Given the description of an element on the screen output the (x, y) to click on. 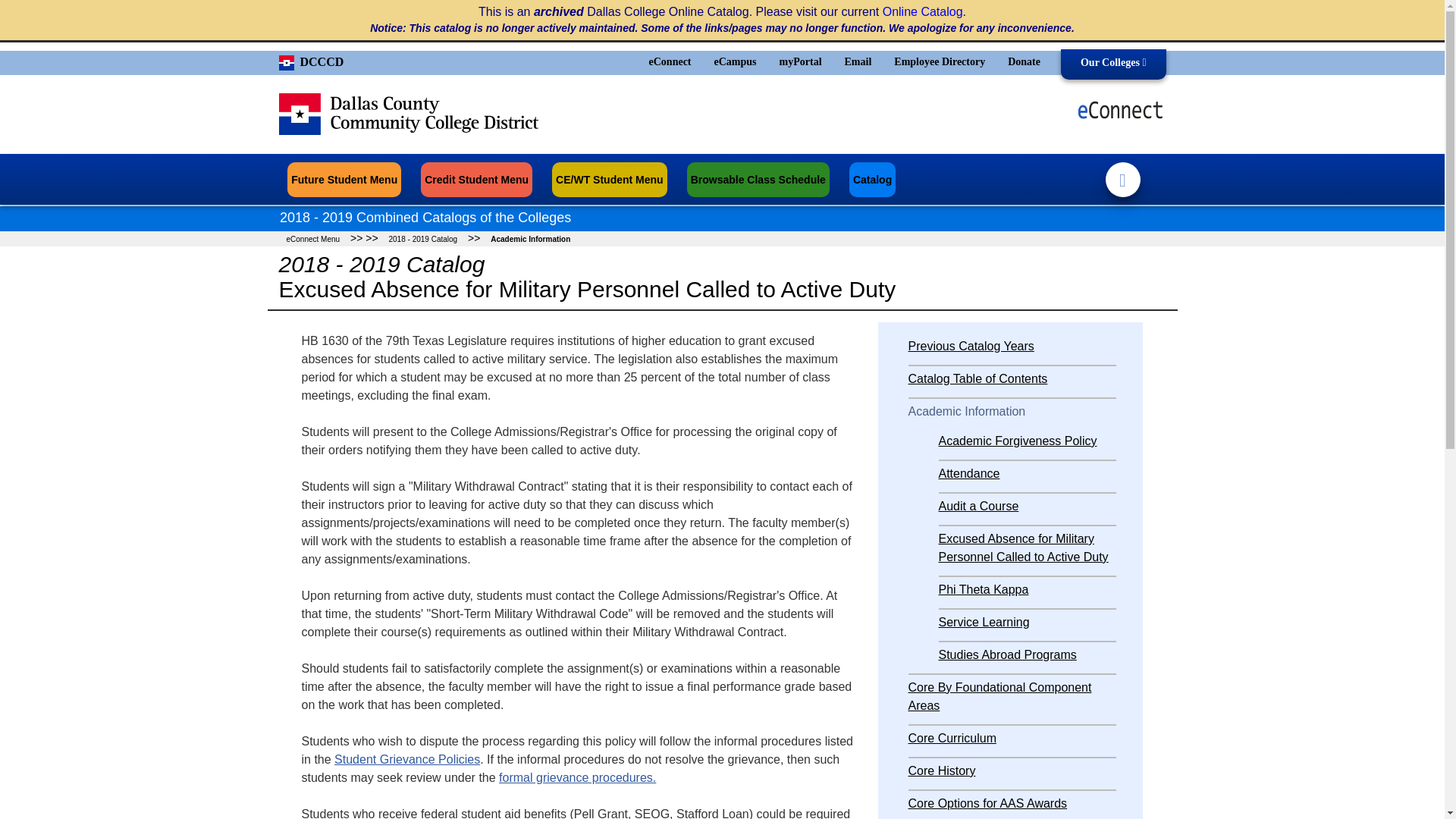
eConnect Menu (313, 239)
Employee Directory (939, 61)
eCampus (735, 61)
Student Grievance Policies (407, 758)
Attendance (969, 472)
2018 - 2019 Catalog (422, 239)
Donate (1024, 61)
DCCCD (311, 59)
myPortal (800, 61)
Core History (941, 770)
